Given the description of an element on the screen output the (x, y) to click on. 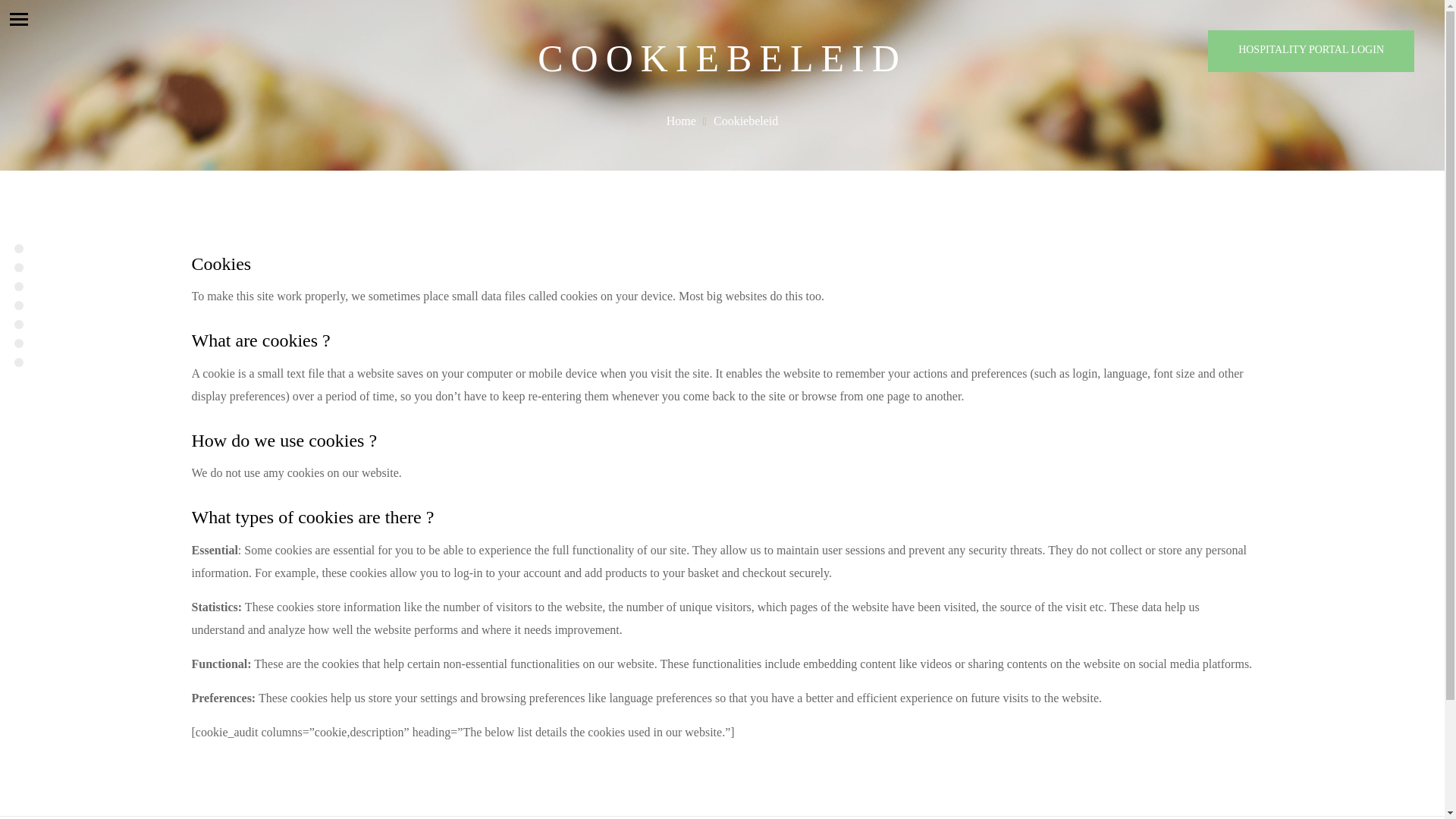
Contact (18, 362)
Onze Diensten (18, 305)
Onze Diensten (18, 305)
Home (18, 248)
Beschikbare ruimtes (18, 324)
HOSPITALITY PORTAL LOGIN (1310, 51)
Omgeving (18, 343)
Gedeelde Faciliteiten (18, 286)
Home (18, 248)
HeadQuarter (18, 267)
Gedeelde Faciliteiten (18, 286)
Beschikbare ruimtes (18, 324)
Omgeving (18, 343)
HeadQuarter (18, 267)
Contact (18, 362)
